Given the description of an element on the screen output the (x, y) to click on. 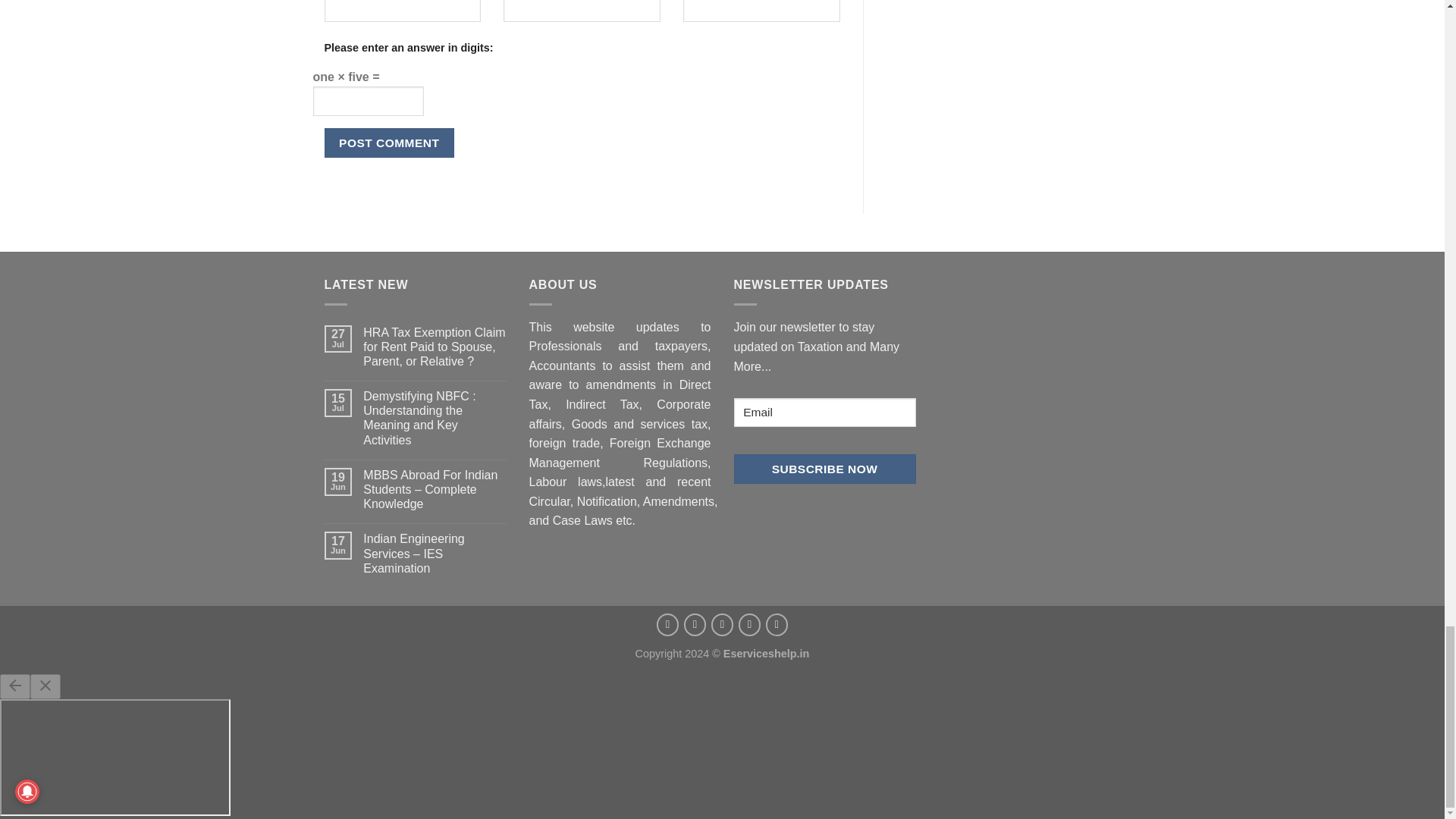
Subscribe Now (824, 469)
Post Comment (389, 142)
Email (824, 412)
